Given the description of an element on the screen output the (x, y) to click on. 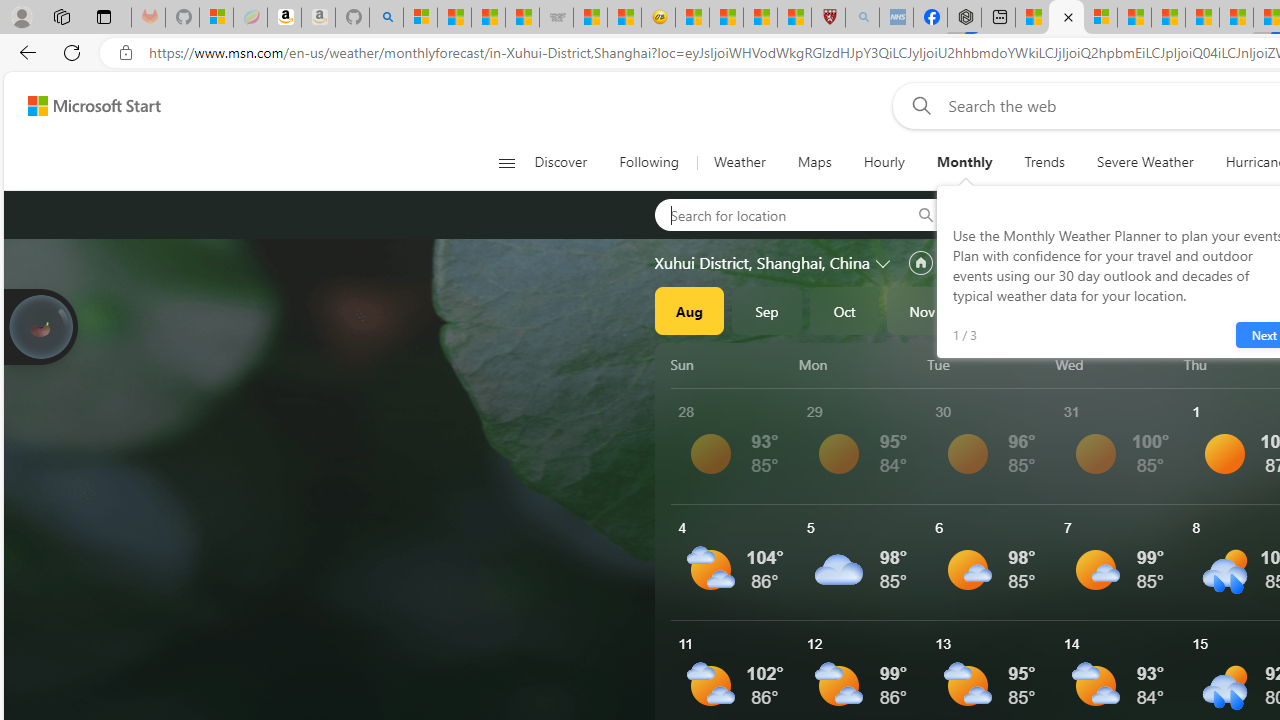
Feb (1155, 310)
Nov (922, 310)
Maps (813, 162)
See More Details (1120, 561)
Dec (1000, 310)
Mon (859, 363)
